Given the description of an element on the screen output the (x, y) to click on. 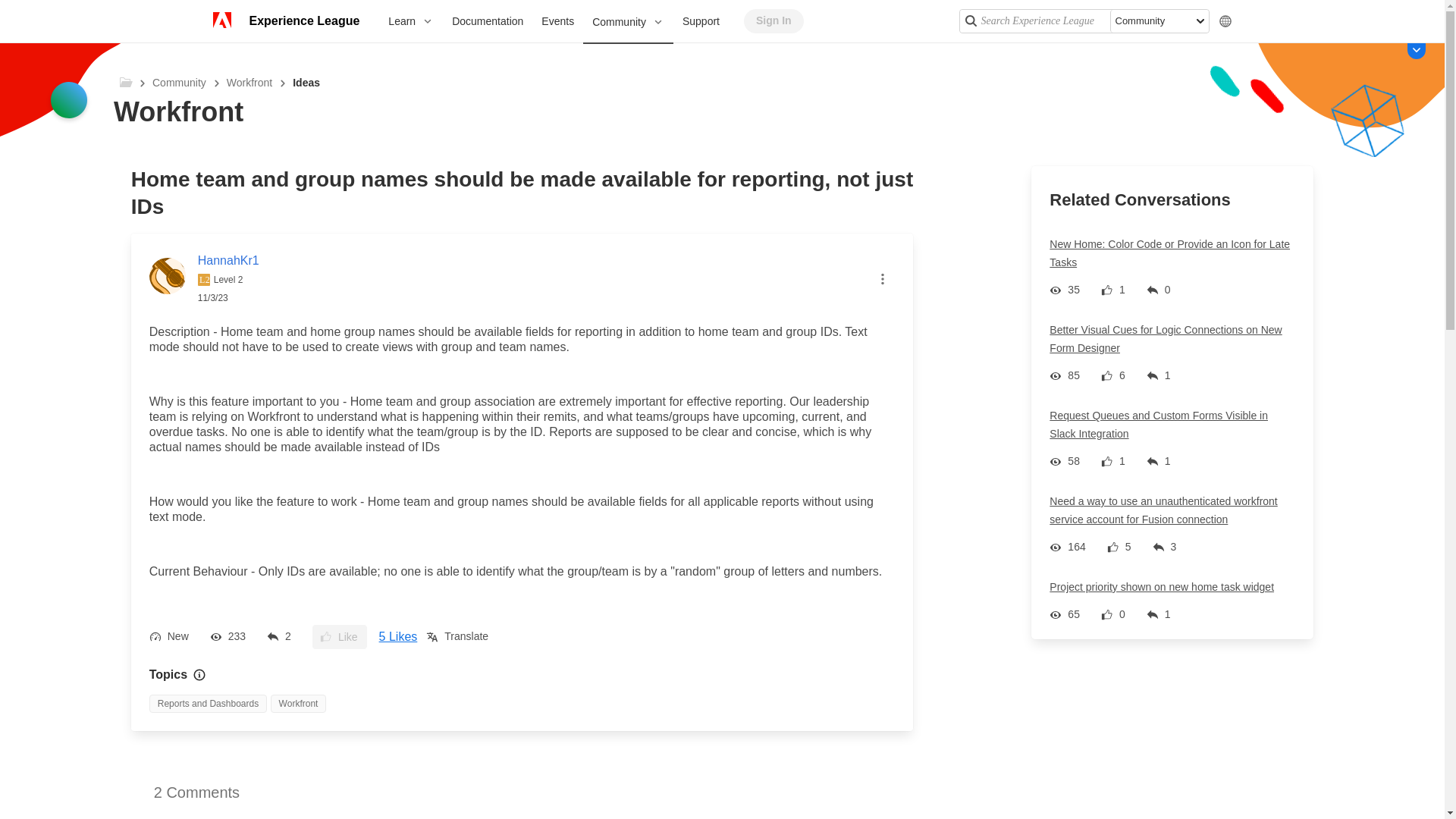
Learn (410, 21)
Documentation (487, 21)
Learn (410, 21)
Experience League (304, 21)
Experience League (304, 21)
Events (557, 21)
Search (969, 20)
Community (627, 22)
